Given the description of an element on the screen output the (x, y) to click on. 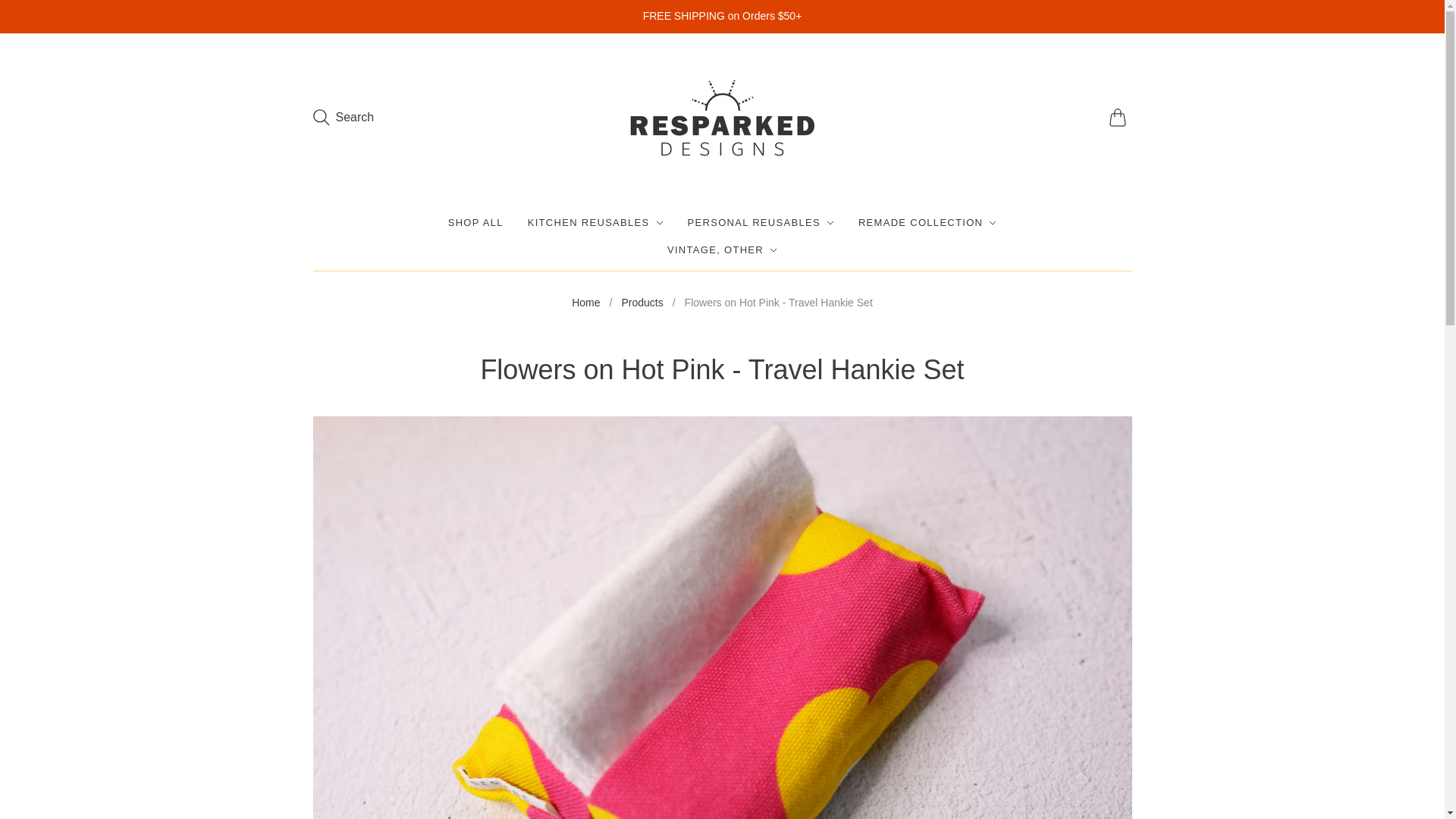
Cart (1119, 117)
Search (342, 117)
SHOP ALL (475, 222)
